Given the description of an element on the screen output the (x, y) to click on. 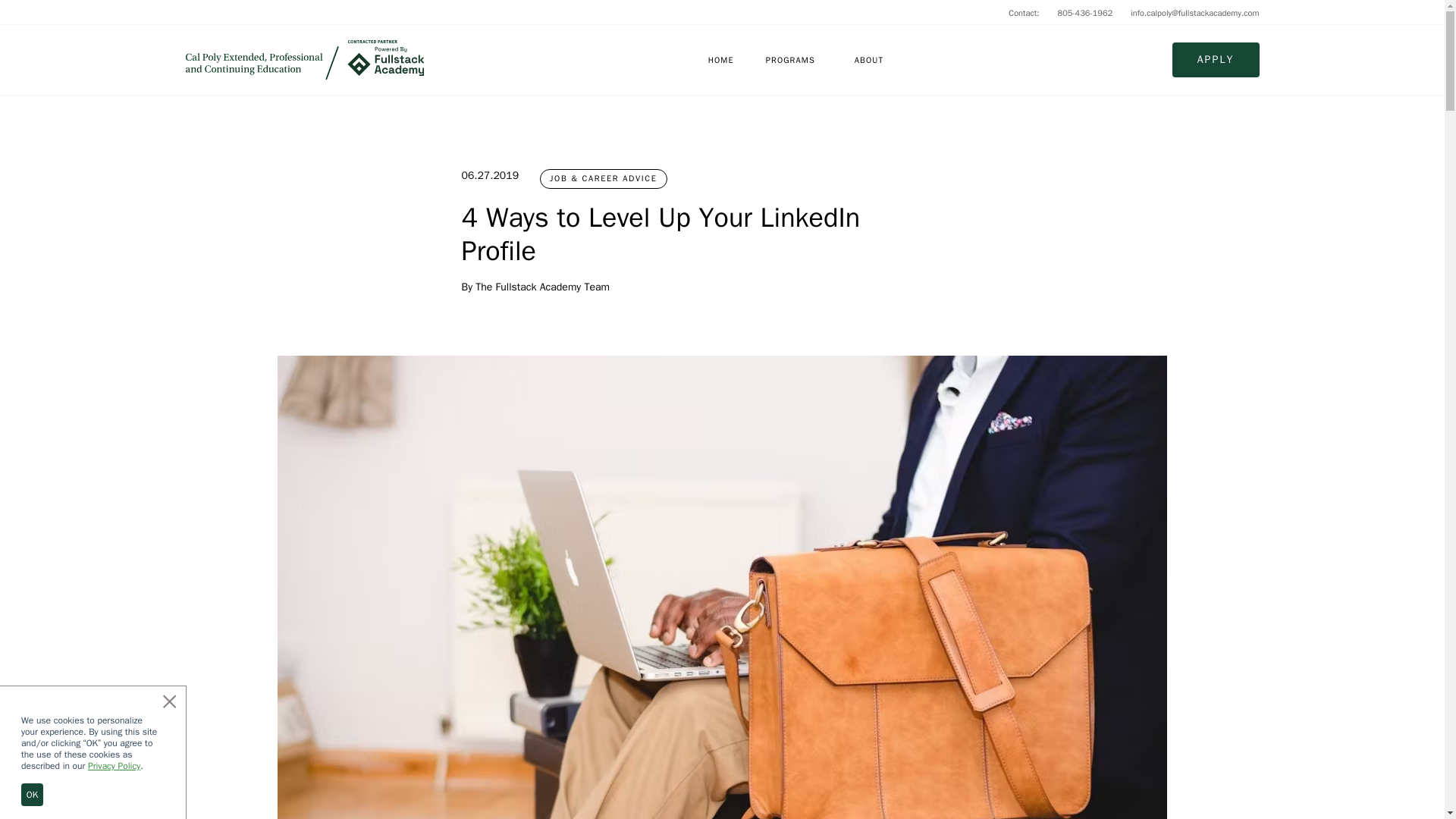
805-436-1962 (1085, 12)
OK (32, 793)
APPLY (1215, 59)
PROGRAMS (790, 59)
Privacy Policy (113, 766)
